Given the description of an element on the screen output the (x, y) to click on. 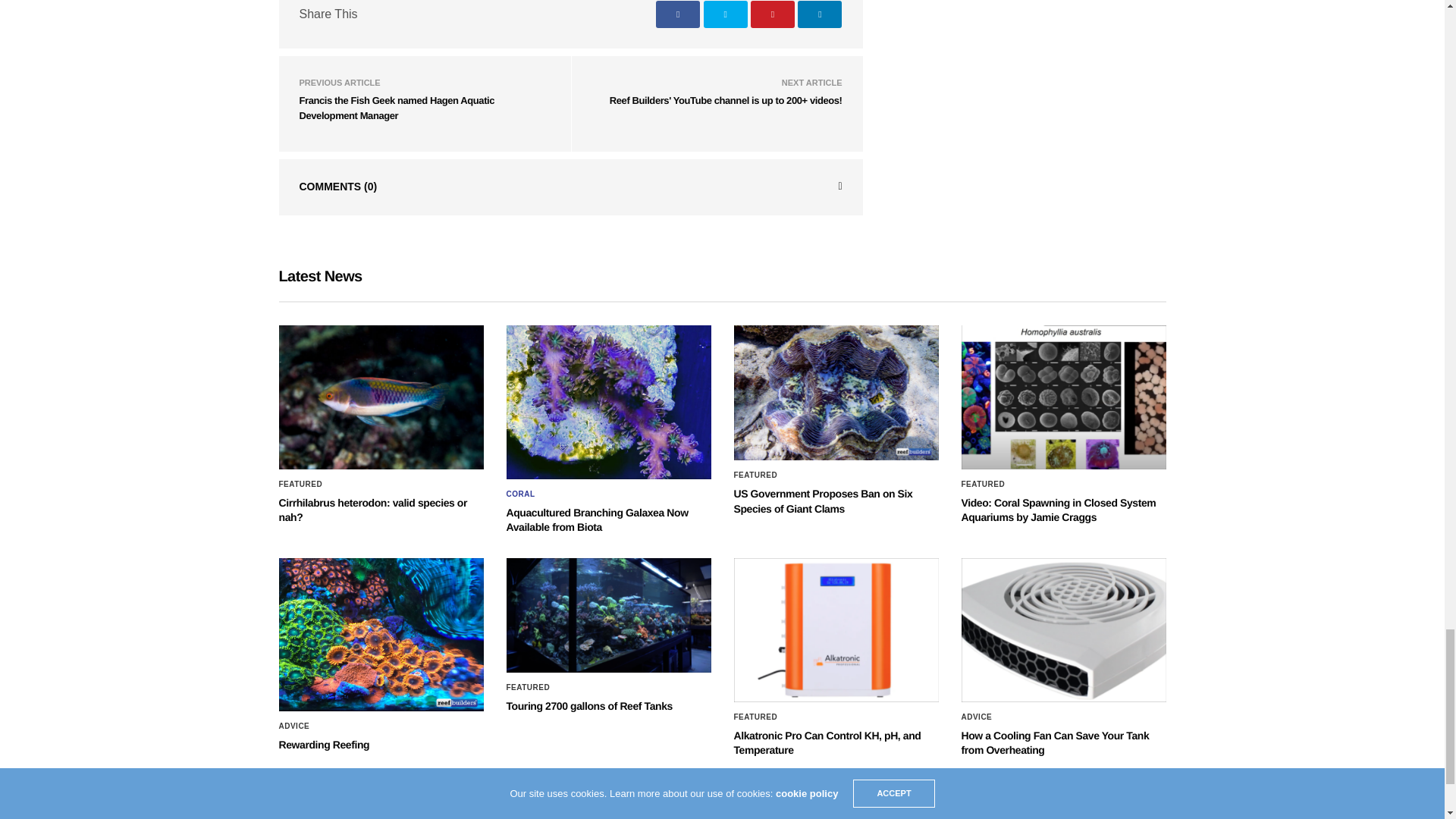
Cirrhilabrus heterodon: valid species or nah? (381, 397)
Cirrhilabrus heterodon: valid species or nah? (373, 510)
Featured (301, 484)
